Given the description of an element on the screen output the (x, y) to click on. 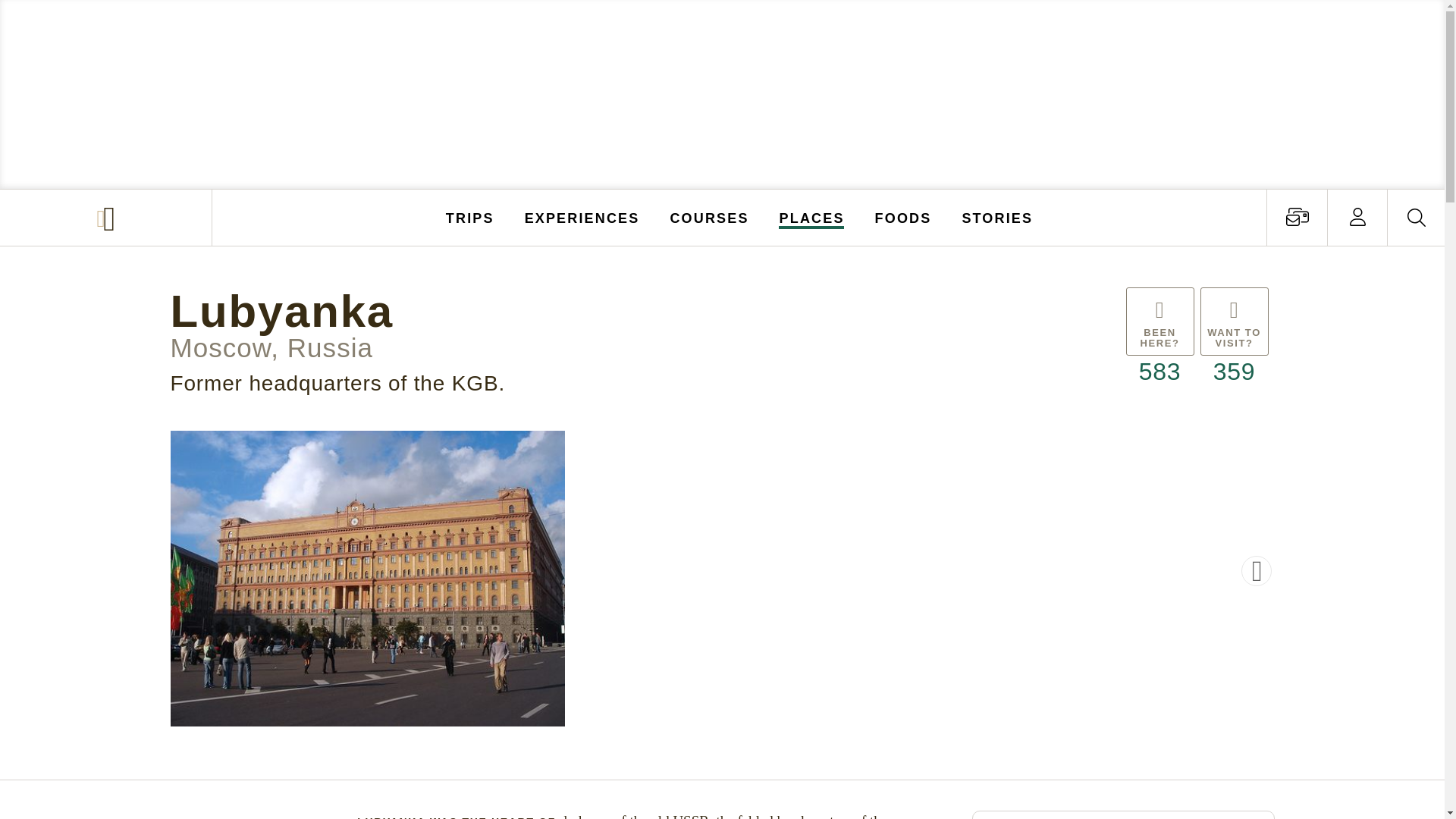
COURSES (707, 217)
TRIPS (469, 217)
PLACES (812, 217)
EXPERIENCES (582, 217)
